Given the description of an element on the screen output the (x, y) to click on. 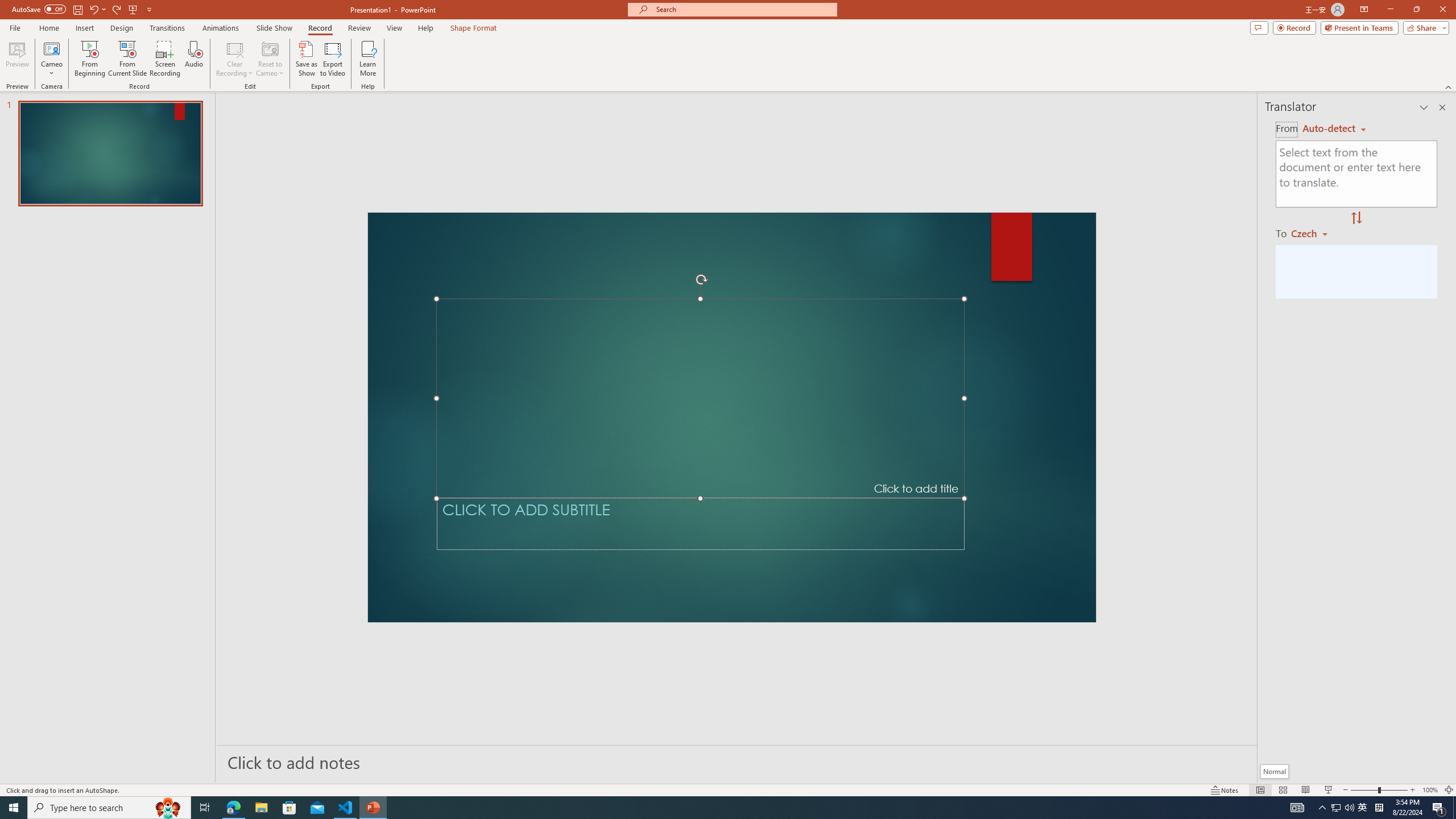
From Current Slide... (127, 58)
Clear Recording (234, 58)
Zoom 100% (1430, 790)
Save as Show (306, 58)
